Given the description of an element on the screen output the (x, y) to click on. 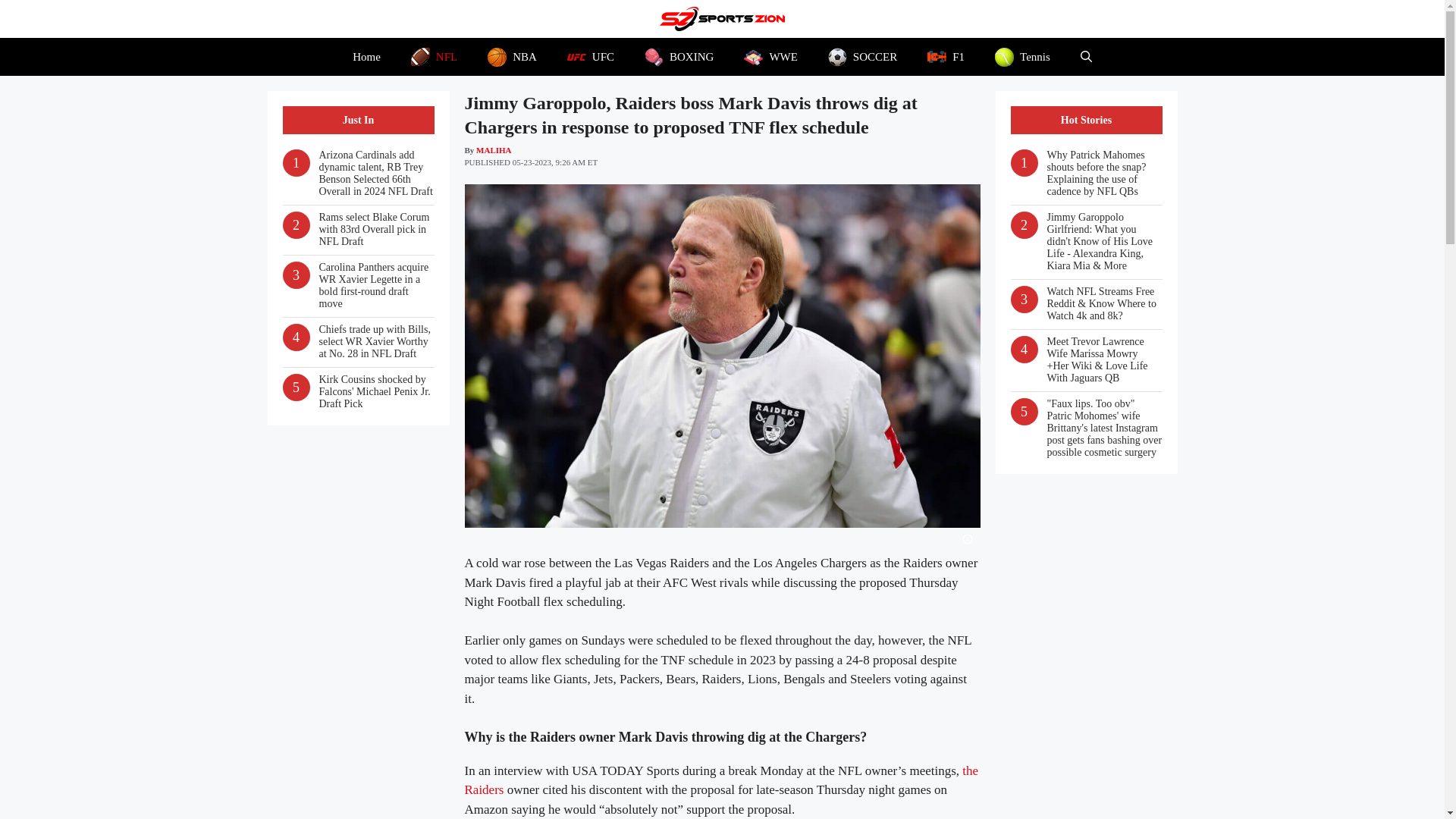
BOXING (678, 56)
Home (366, 56)
WWE (770, 56)
NFL (433, 56)
F1 (945, 56)
SOCCER (862, 56)
NBA (511, 56)
the Raiders (721, 780)
